Given the description of an element on the screen output the (x, y) to click on. 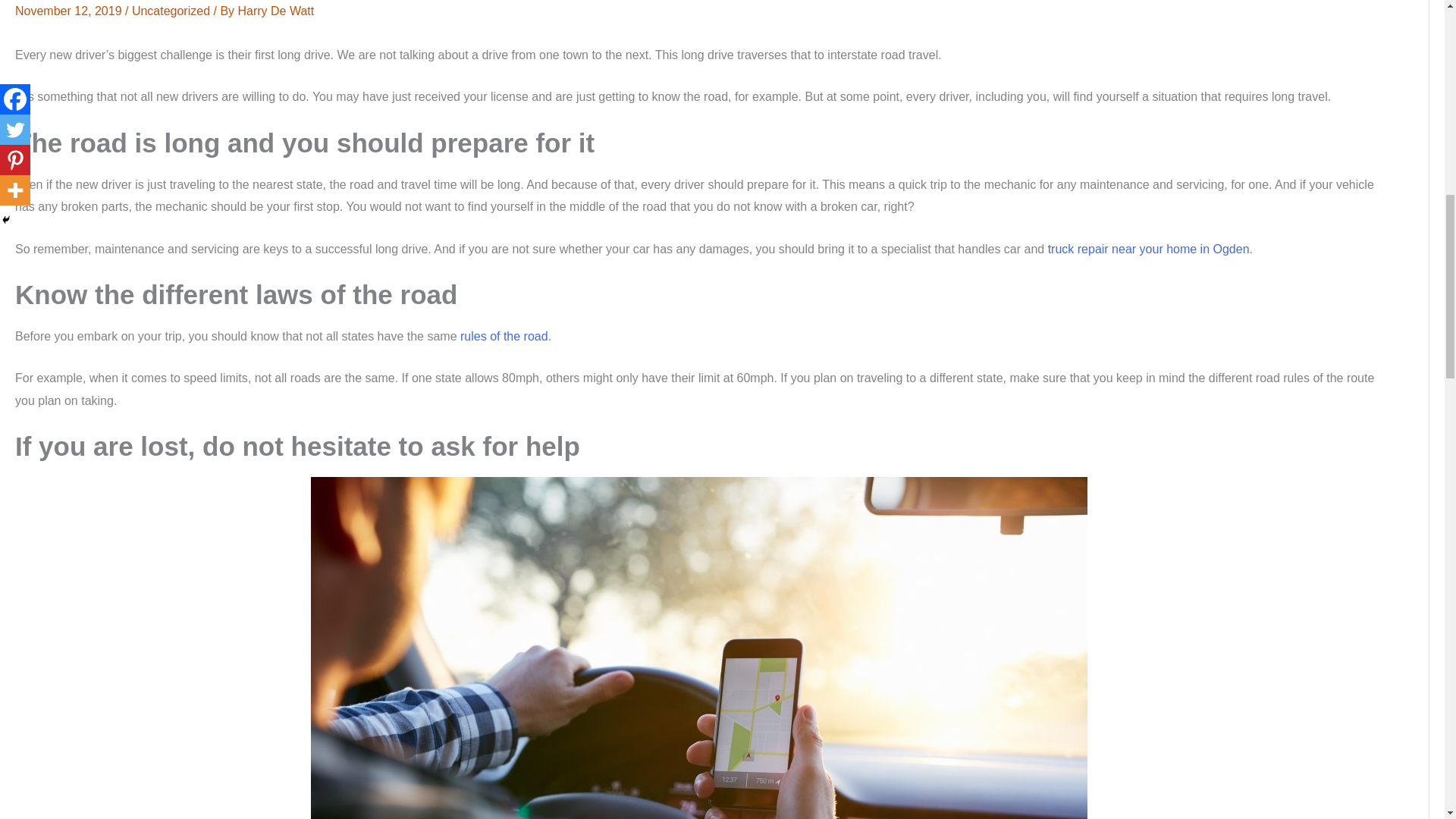
truck repair near your home in Ogden (1148, 248)
View all posts by Harry De Watt (276, 10)
Uncategorized (170, 10)
rules of the road (504, 336)
DMV.ORG (504, 336)
Bakers Diesel Injection Service (1148, 248)
Harry De Watt (276, 10)
